Given the description of an element on the screen output the (x, y) to click on. 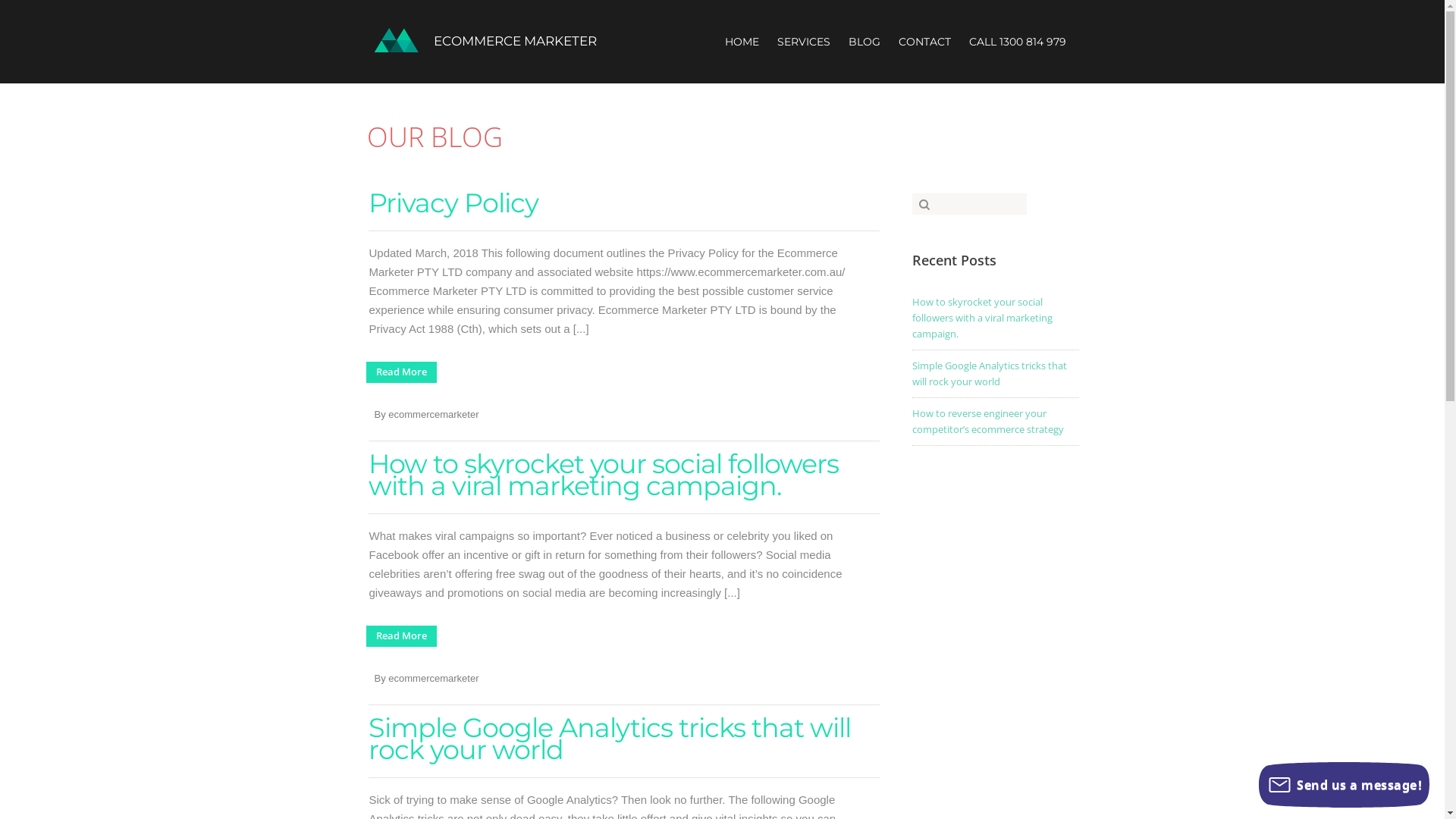
Privacy Policy Element type: text (453, 202)
Send us a message! Element type: text (1343, 784)
ECOMMERCE MARKETER Element type: text (480, 40)
Read More Element type: text (400, 371)
CONTACT Element type: text (927, 49)
CALL 1300 814 979 Element type: text (1021, 49)
Simple Google Analytics tricks that will rock your world Element type: text (609, 738)
BLOG Element type: text (867, 49)
Read More Element type: text (400, 635)
Simple Google Analytics tricks that will rock your world Element type: text (994, 374)
HOME Element type: text (745, 49)
SERVICES Element type: text (806, 49)
Search Element type: text (45, 9)
